Given the description of an element on the screen output the (x, y) to click on. 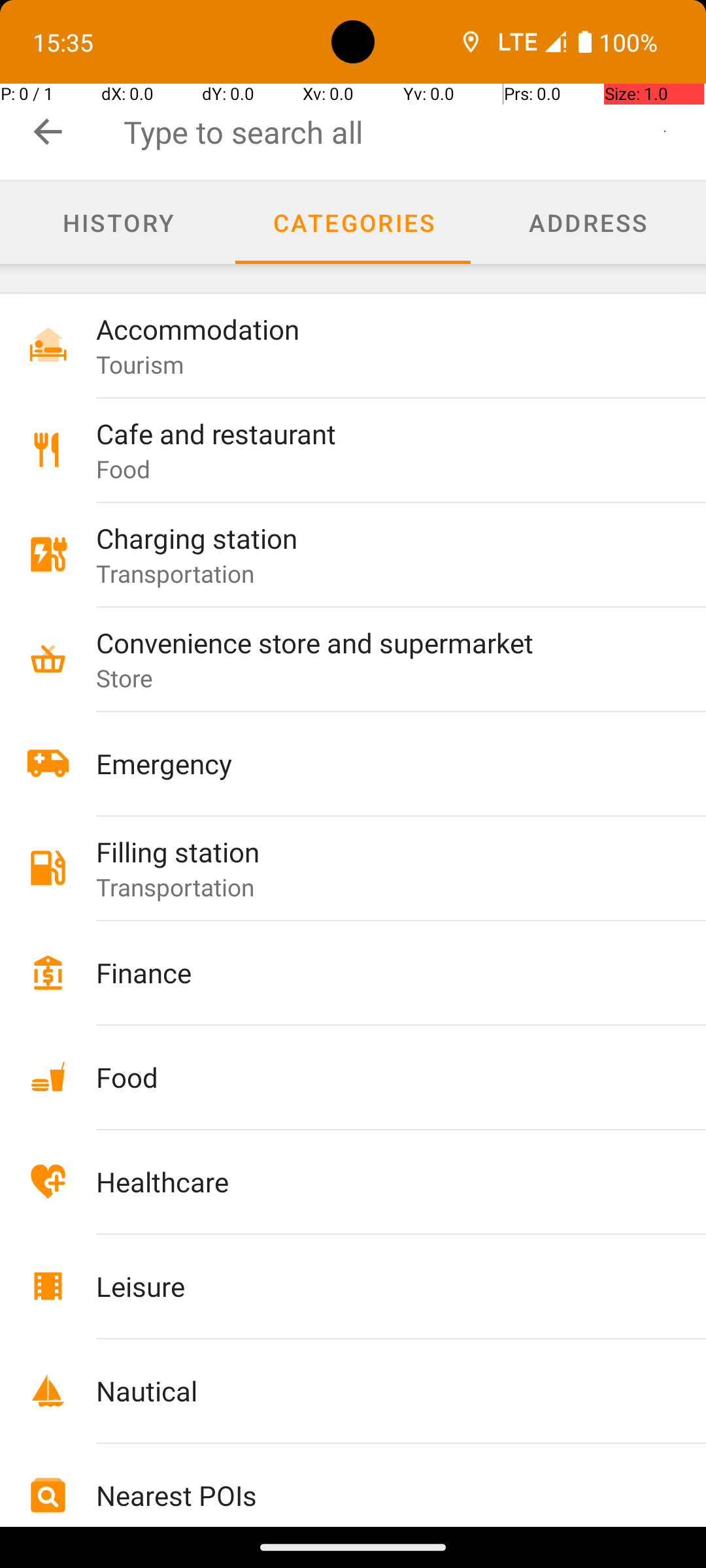
Accommodation Element type: android.widget.TextView (373, 328)
Tourism Element type: android.widget.TextView (140, 363)
Cafe and restaurant Element type: android.widget.TextView (373, 433)
Charging station Element type: android.widget.TextView (373, 537)
Convenience store and supermarket Element type: android.widget.TextView (373, 642)
Store Element type: android.widget.TextView (124, 677)
Emergency Element type: android.widget.TextView (373, 763)
Filling station Element type: android.widget.TextView (373, 851)
Healthcare Element type: android.widget.TextView (373, 1181)
Leisure Element type: android.widget.TextView (373, 1285)
Nautical Element type: android.widget.TextView (373, 1390)
Nearest POIs Element type: android.widget.TextView (373, 1494)
